Given the description of an element on the screen output the (x, y) to click on. 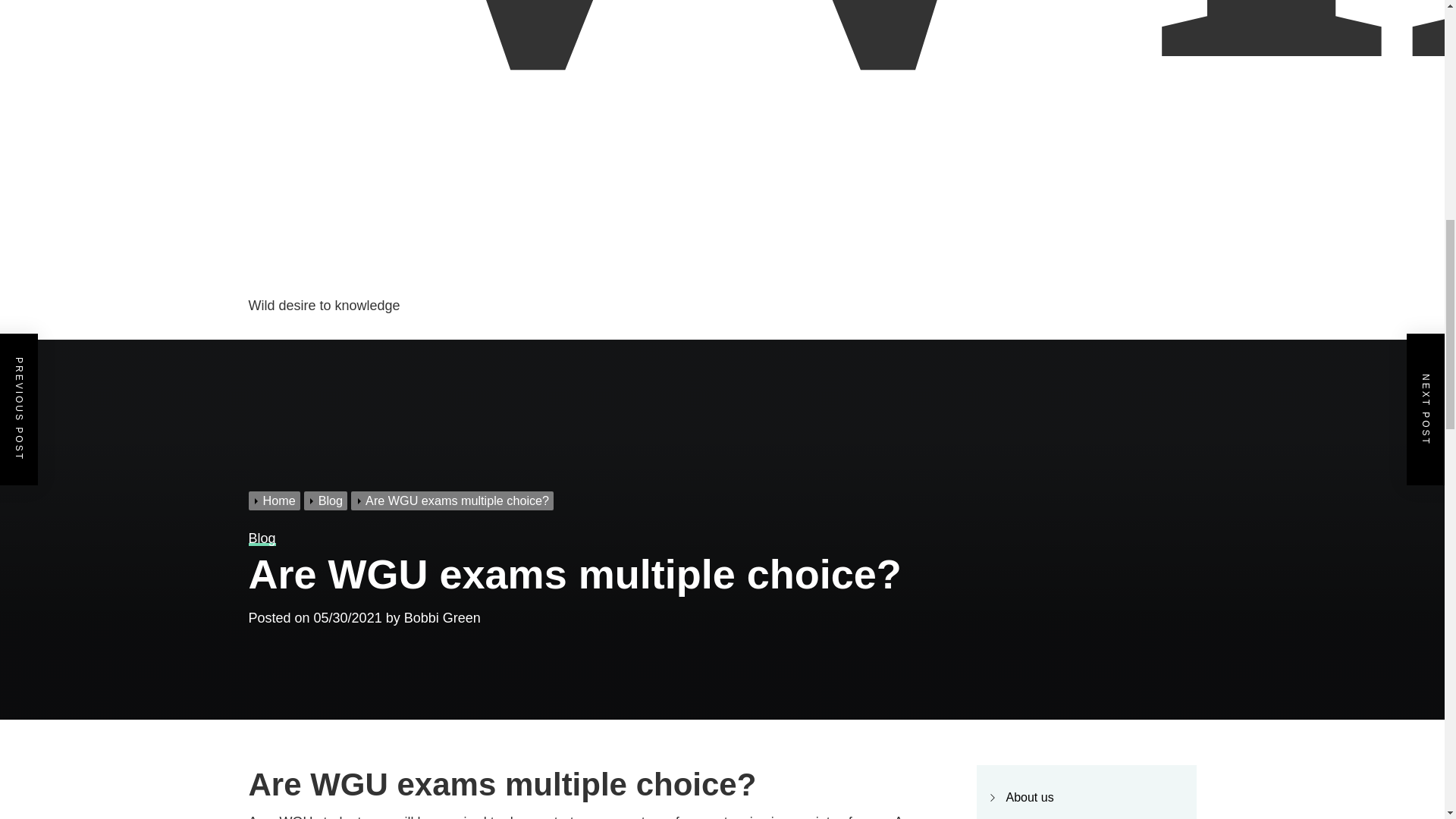
Are WGU exams multiple choice? (453, 499)
Bobbi Green (442, 617)
Blog (262, 538)
Home (276, 499)
About us (1029, 797)
Blog (327, 499)
